Given the description of an element on the screen output the (x, y) to click on. 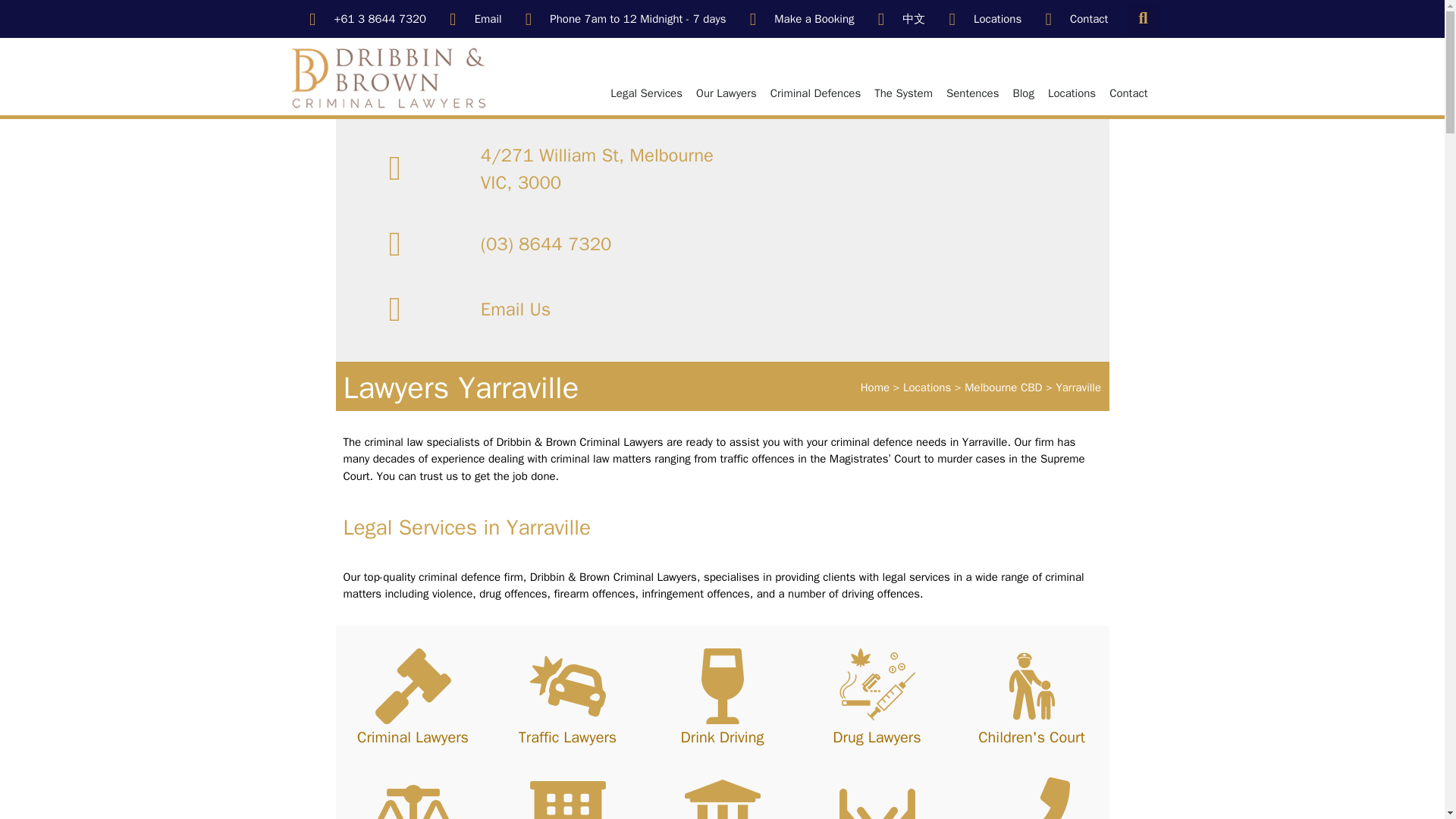
Sentences (972, 93)
Contact (1072, 18)
Make a Booking (798, 18)
Criminal Defences (814, 93)
Locations (1071, 93)
Contact (1128, 93)
Locations (981, 18)
Our Lawyers (725, 93)
Phone 7am to 12 Midnight - 7 days (622, 18)
Legal Services (646, 93)
